Given the description of an element on the screen output the (x, y) to click on. 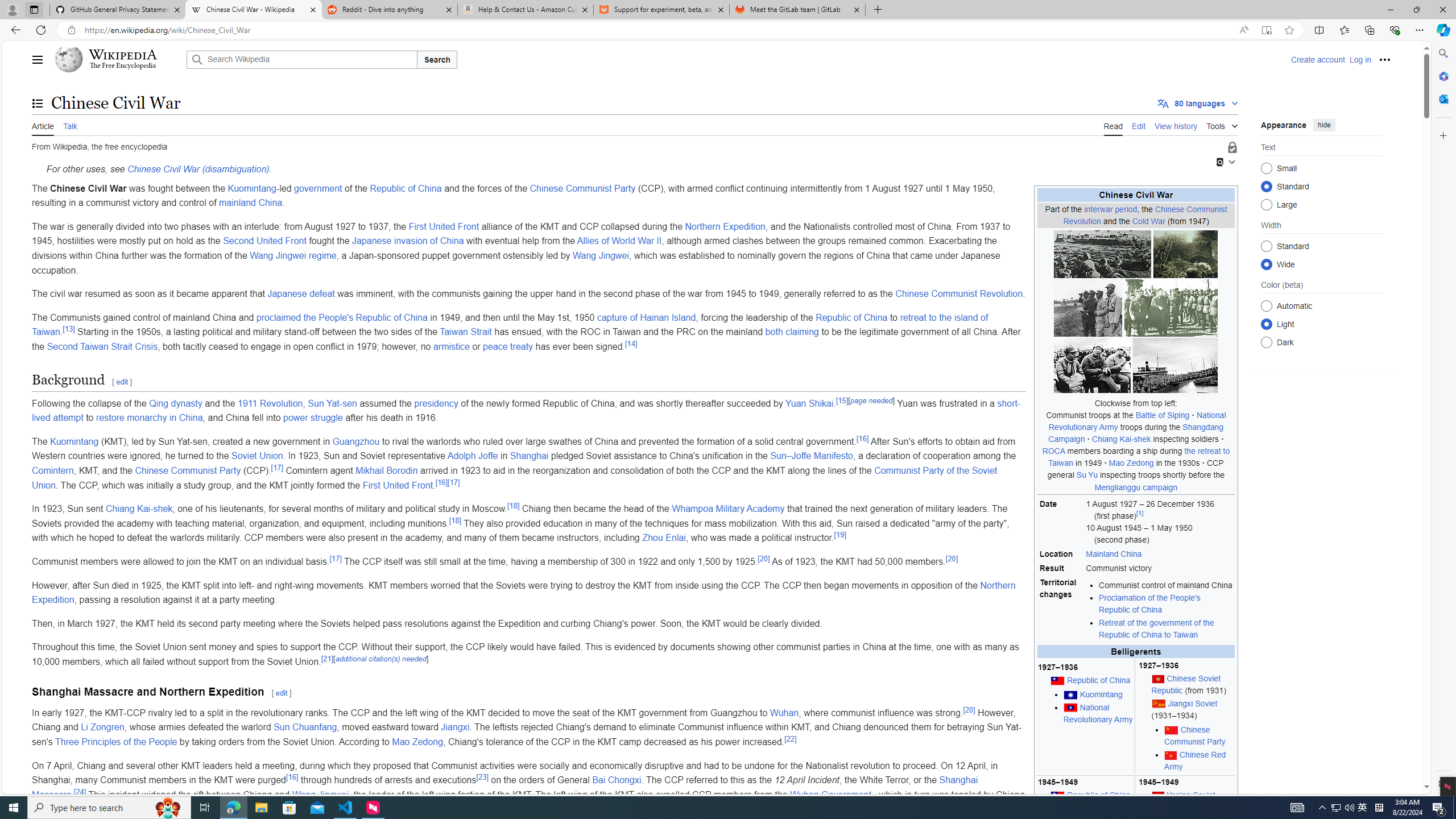
Chiang Kai-shek (138, 508)
Territorial changes (1061, 608)
[16] (291, 776)
Chinese Red Army (1194, 760)
Create account (1317, 58)
additional citation(s) needed (380, 658)
Adolph Joffe (471, 456)
Second Taiwan Strait Crisis (102, 346)
Menglianggu campaign (1135, 487)
[14] (630, 343)
ROCA (1053, 451)
Mainland China (1158, 554)
